Given the description of an element on the screen output the (x, y) to click on. 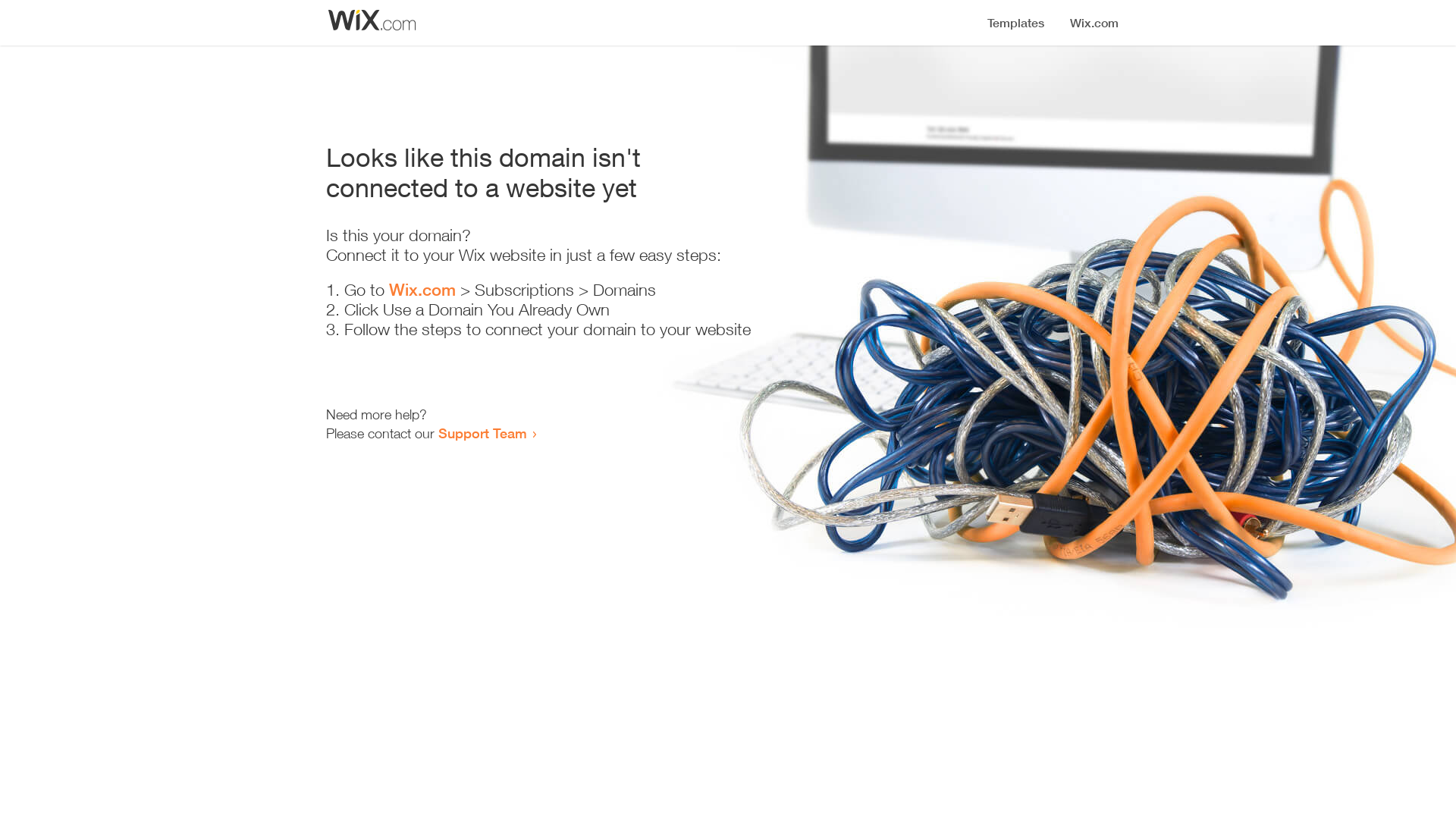
Wix.com Element type: text (422, 289)
Support Team Element type: text (482, 432)
